Given the description of an element on the screen output the (x, y) to click on. 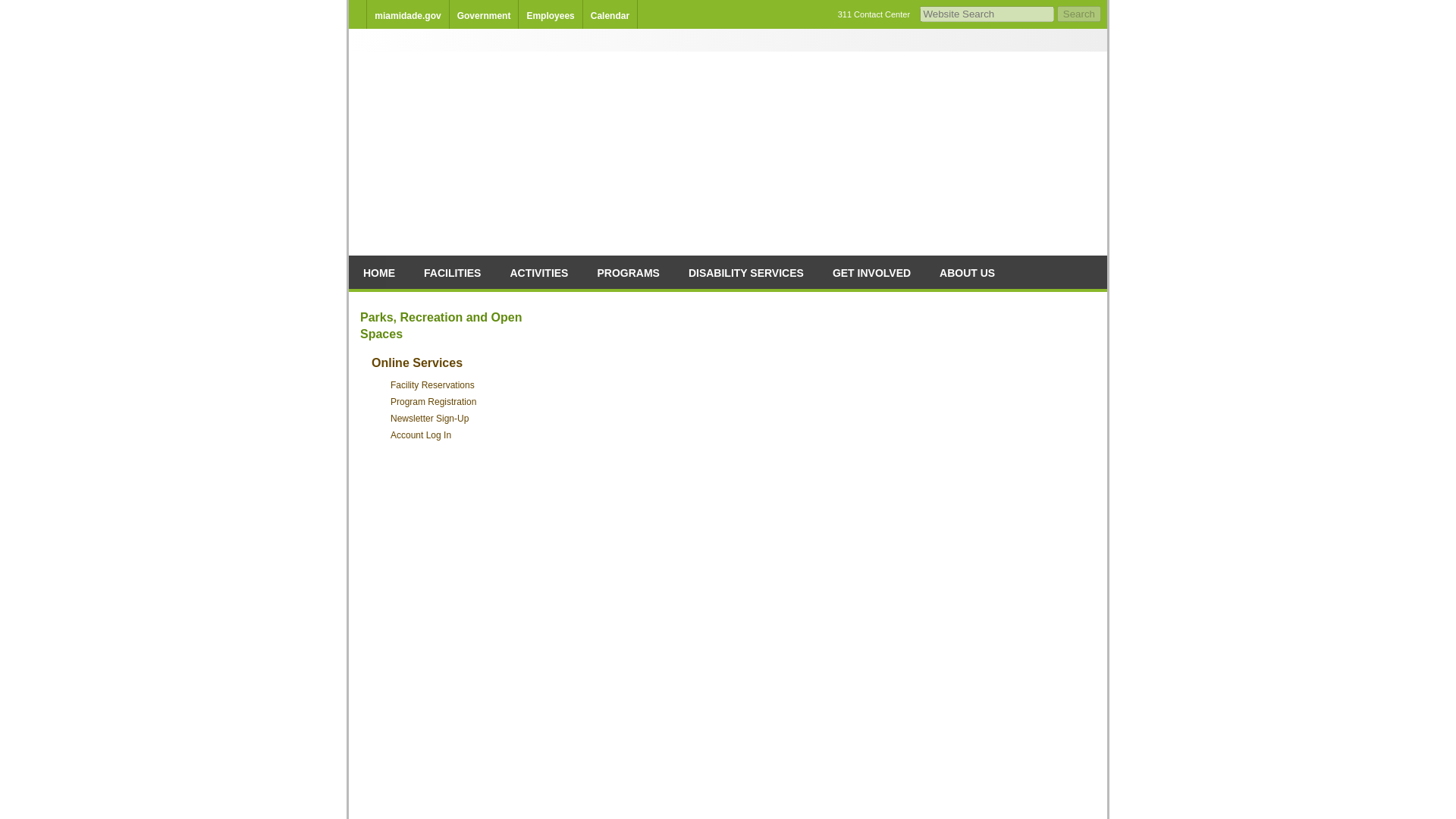
Employees (549, 15)
Account Log In (420, 434)
PROGRAMS (627, 272)
Search (1078, 13)
Calendar (609, 15)
Government (484, 15)
ACTIVITIES (538, 272)
FACILITIES (452, 272)
Facility Reservations (432, 385)
Website Search (987, 13)
